Given the description of an element on the screen output the (x, y) to click on. 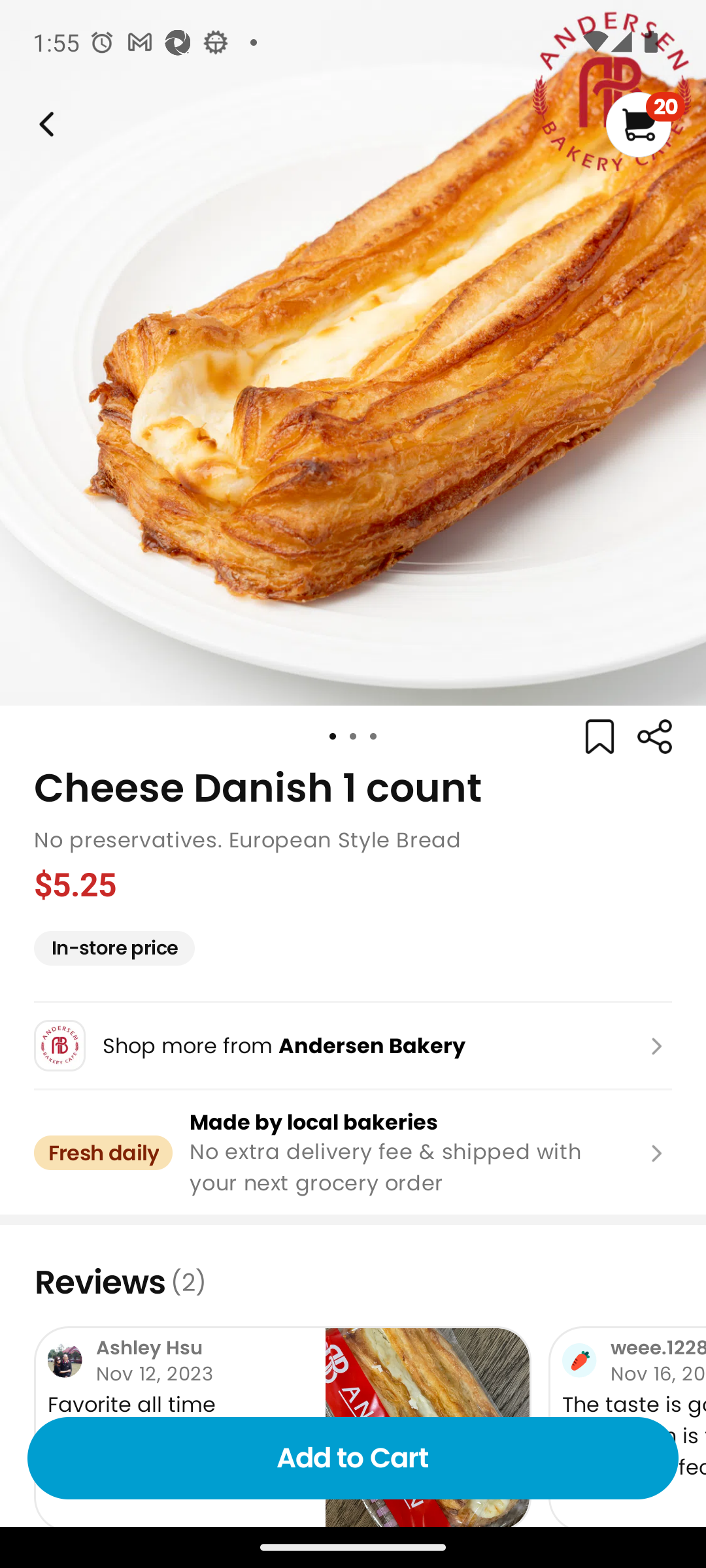
20 (644, 124)
Weee! (45, 124)
Weee! (653, 736)
Shop more from Andersen Bakery Weee! (352, 1045)
Reviews (2) (353, 1281)
Add to Cart (352, 1458)
